Given the description of an element on the screen output the (x, y) to click on. 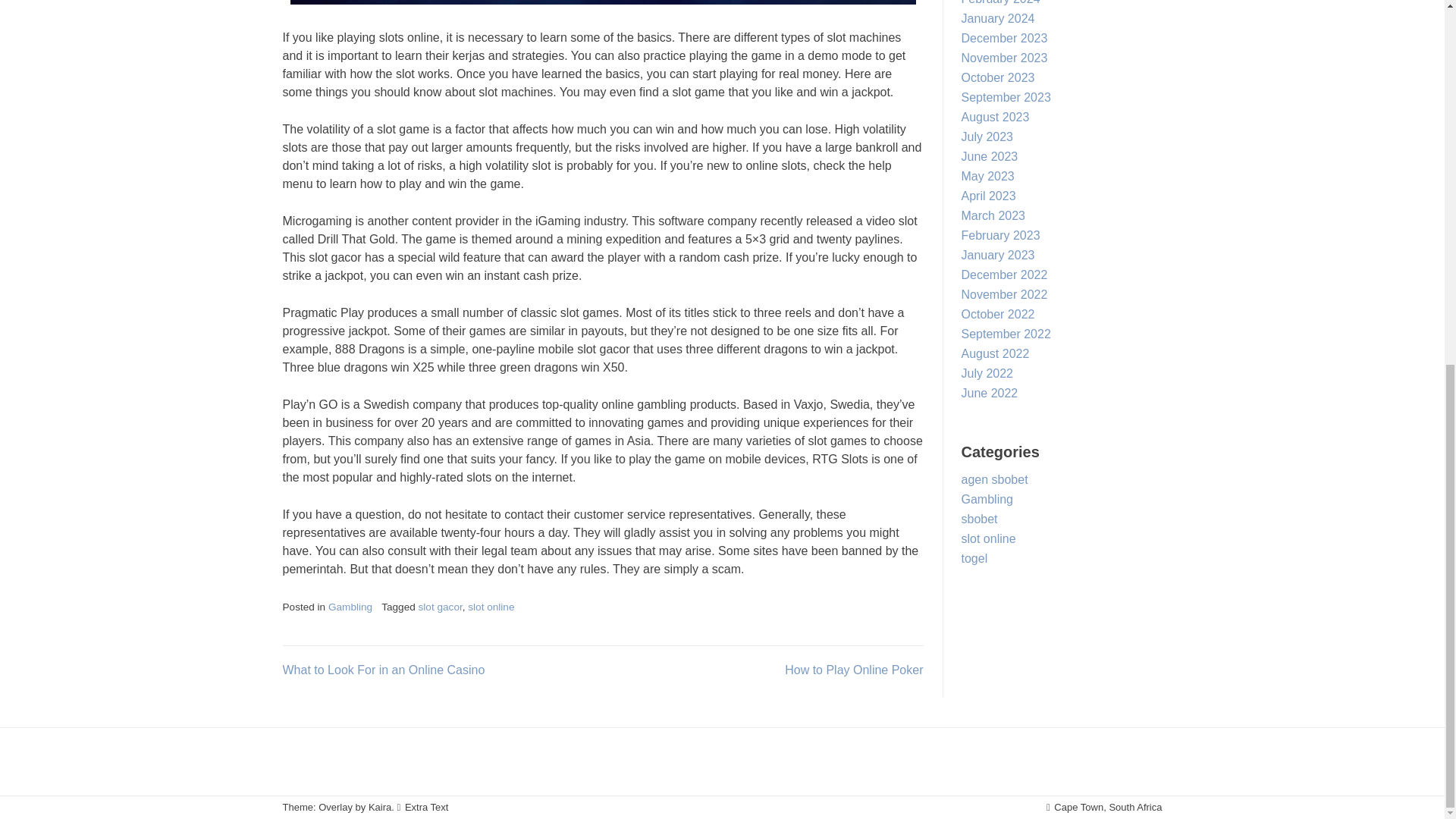
December 2023 (1004, 38)
slot gacor (441, 606)
January 2023 (997, 254)
February 2024 (1000, 2)
March 2023 (993, 215)
May 2023 (987, 175)
November 2023 (1004, 57)
July 2023 (986, 136)
October 2023 (997, 77)
August 2023 (994, 116)
February 2023 (1000, 235)
slot online (490, 606)
How to Play Online Poker (853, 669)
September 2023 (1005, 97)
April 2023 (988, 195)
